Given the description of an element on the screen output the (x, y) to click on. 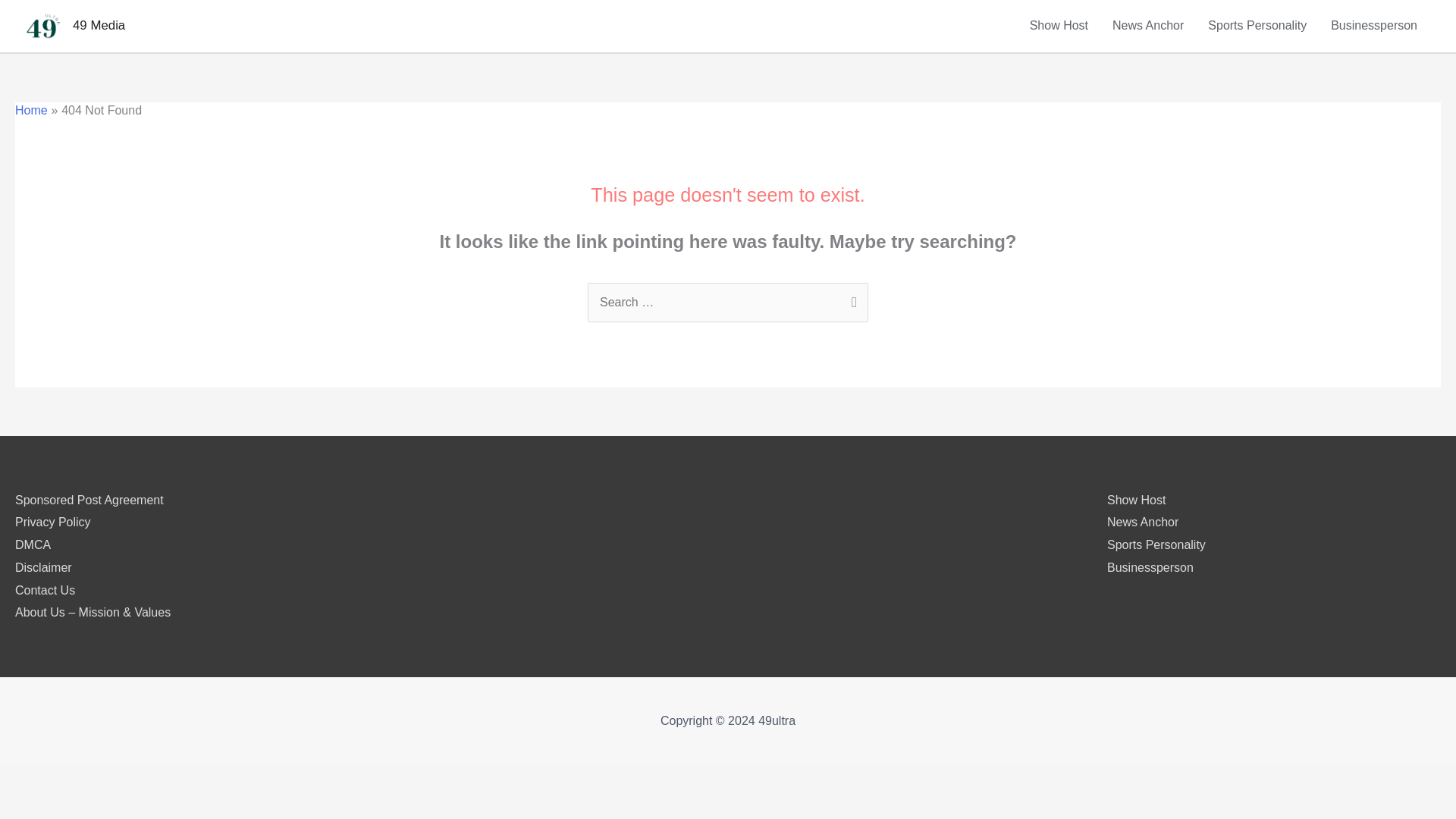
Sponsored Post Agreement (88, 499)
News Anchor (1141, 521)
Show Host (1136, 499)
Home (31, 110)
Search (850, 299)
Search (850, 299)
DMCA (32, 544)
Search (850, 299)
Sports Personality (1257, 25)
Disclaimer (42, 567)
49 Media (98, 25)
Businessperson (1374, 25)
Contact Us (44, 590)
Show Host (1058, 25)
News Anchor (1147, 25)
